Given the description of an element on the screen output the (x, y) to click on. 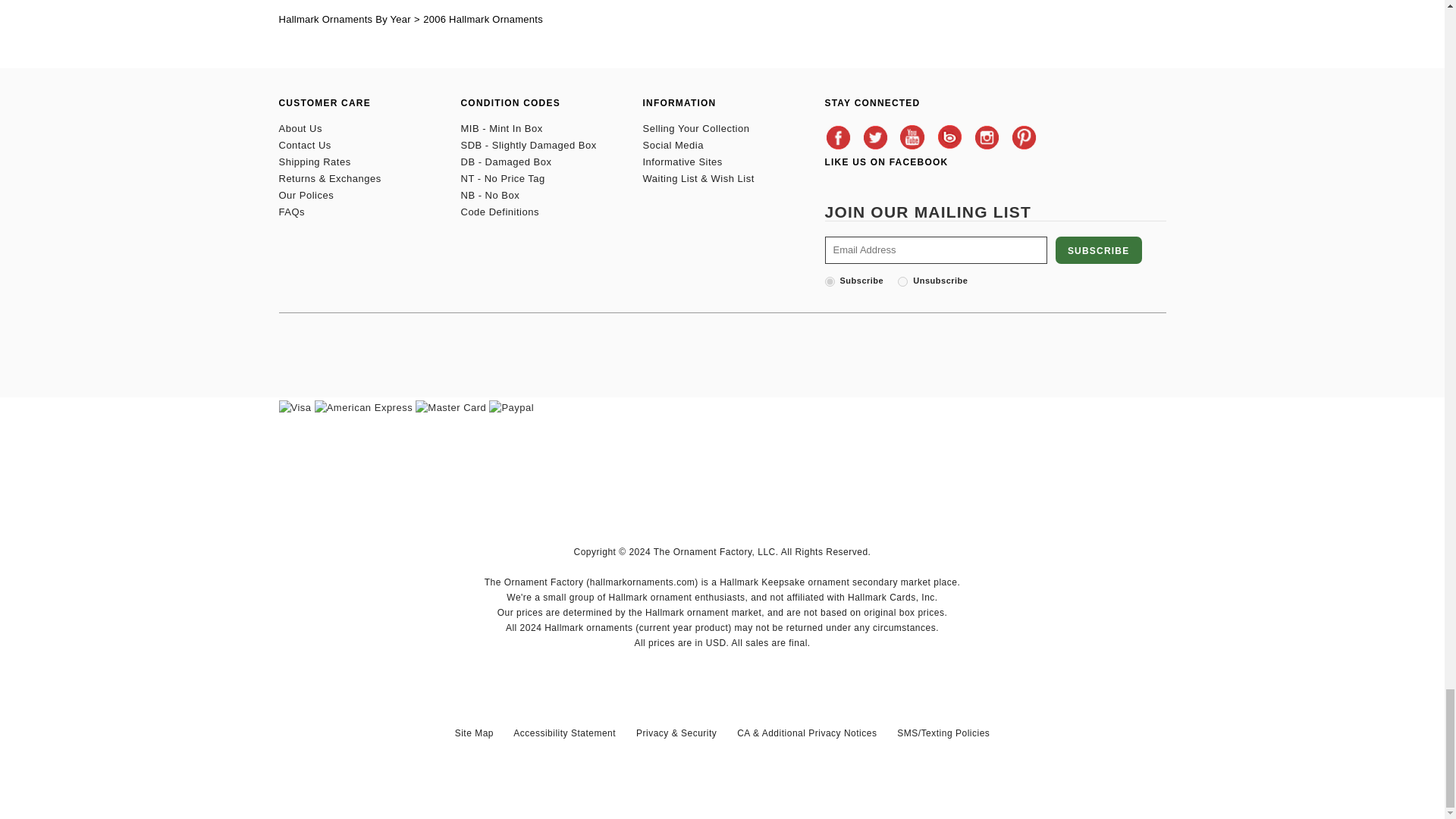
0 (902, 281)
1 (829, 281)
SUBSCRIBE (1098, 249)
